Given the description of an element on the screen output the (x, y) to click on. 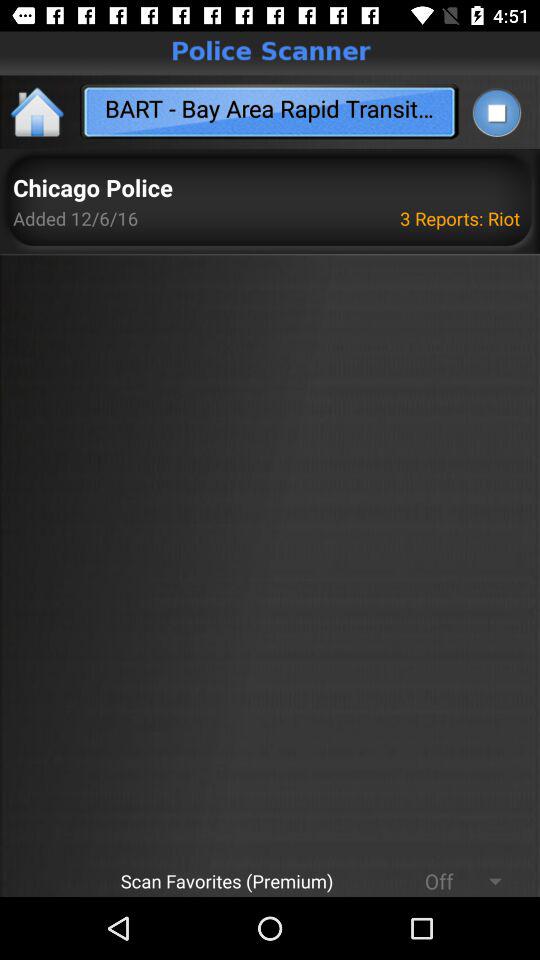
flip until the added 12 6 icon (75, 218)
